Given the description of an element on the screen output the (x, y) to click on. 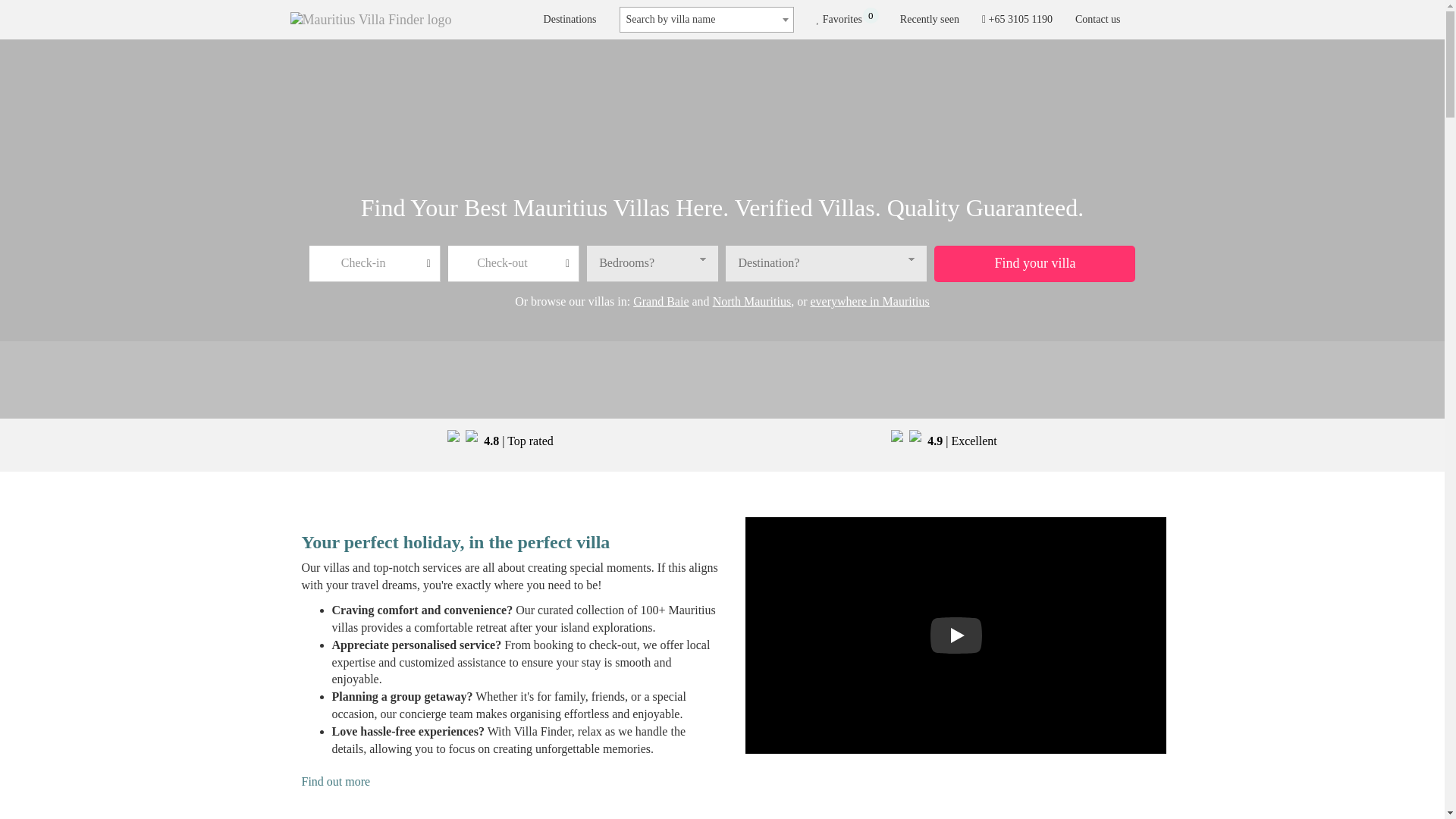
Destinations (570, 19)
Search by villa name (706, 19)
Contact us (1098, 19)
Contact us (846, 19)
Destinations (1098, 19)
Recently seen (570, 19)
